Given the description of an element on the screen output the (x, y) to click on. 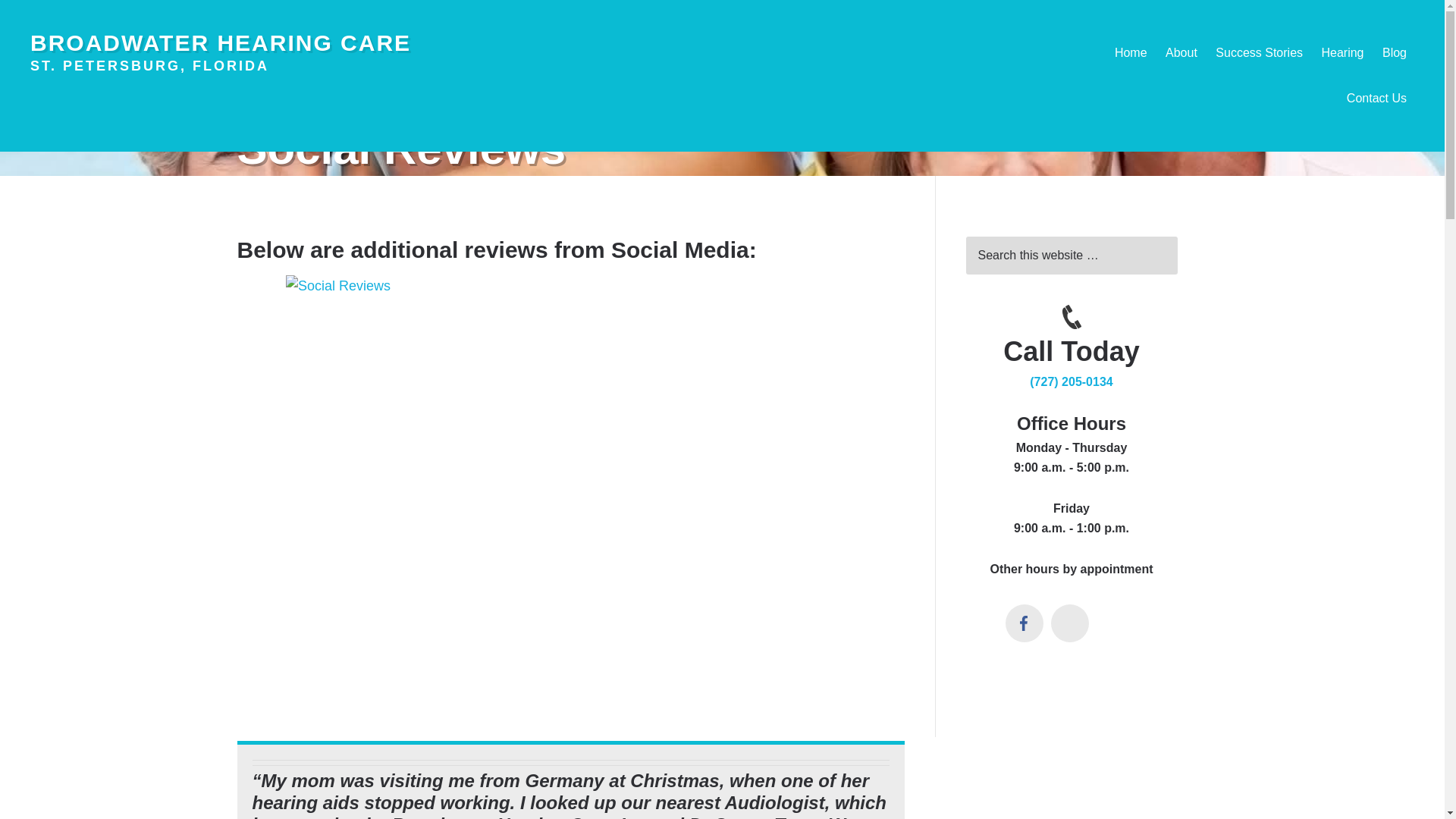
Success Stories (1259, 53)
BROADWATER HEARING CARE (220, 42)
Hearing (1342, 53)
Home (1130, 53)
Contact Us (1376, 98)
About (1181, 53)
Blog (1393, 53)
